Given the description of an element on the screen output the (x, y) to click on. 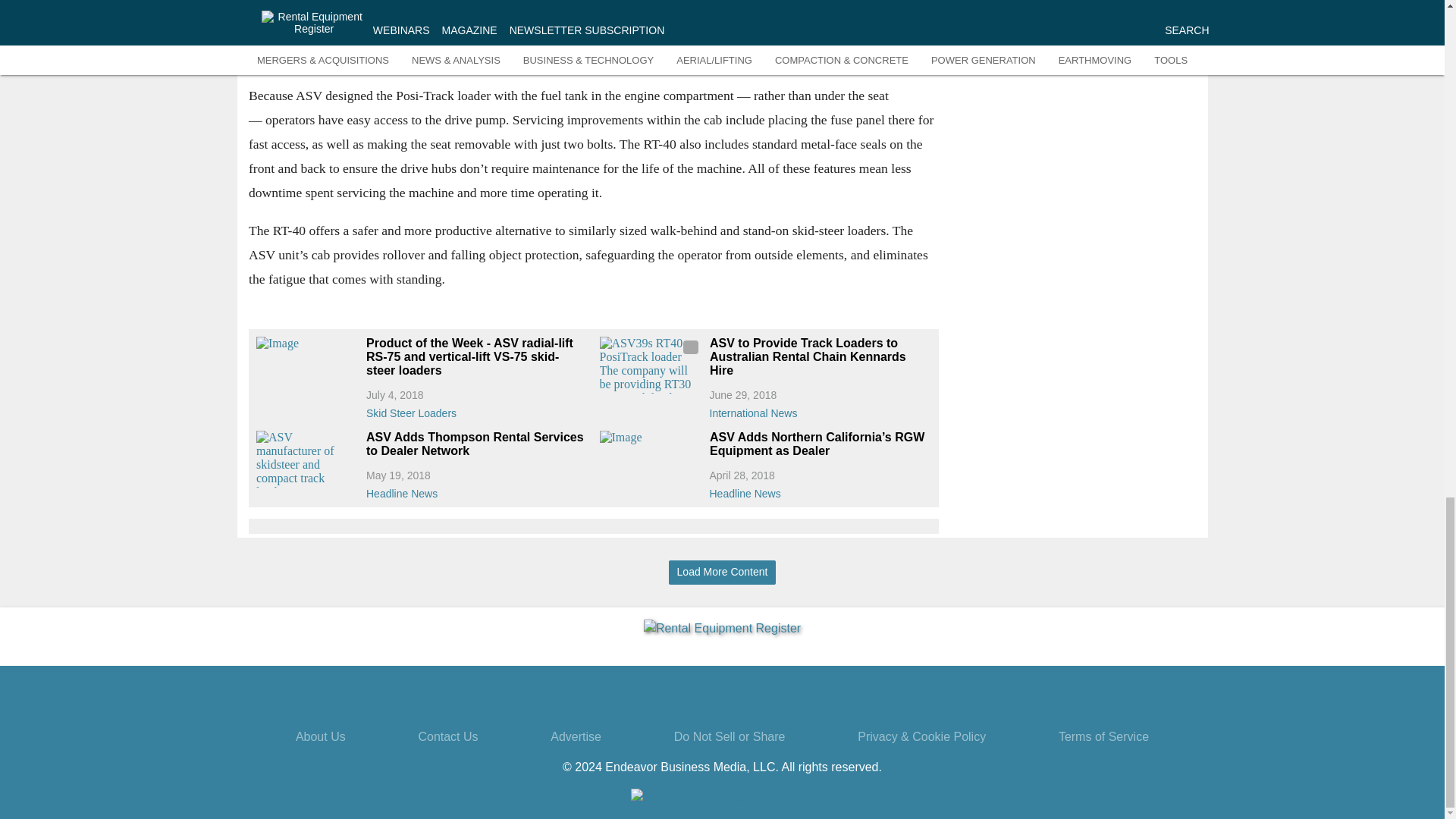
Headline News (476, 490)
ASV Adds Thompson Rental Services to Dealer Network (476, 443)
Headline News (820, 490)
Image (307, 364)
Image (649, 458)
Skid Steer Loaders (476, 410)
